Given the description of an element on the screen output the (x, y) to click on. 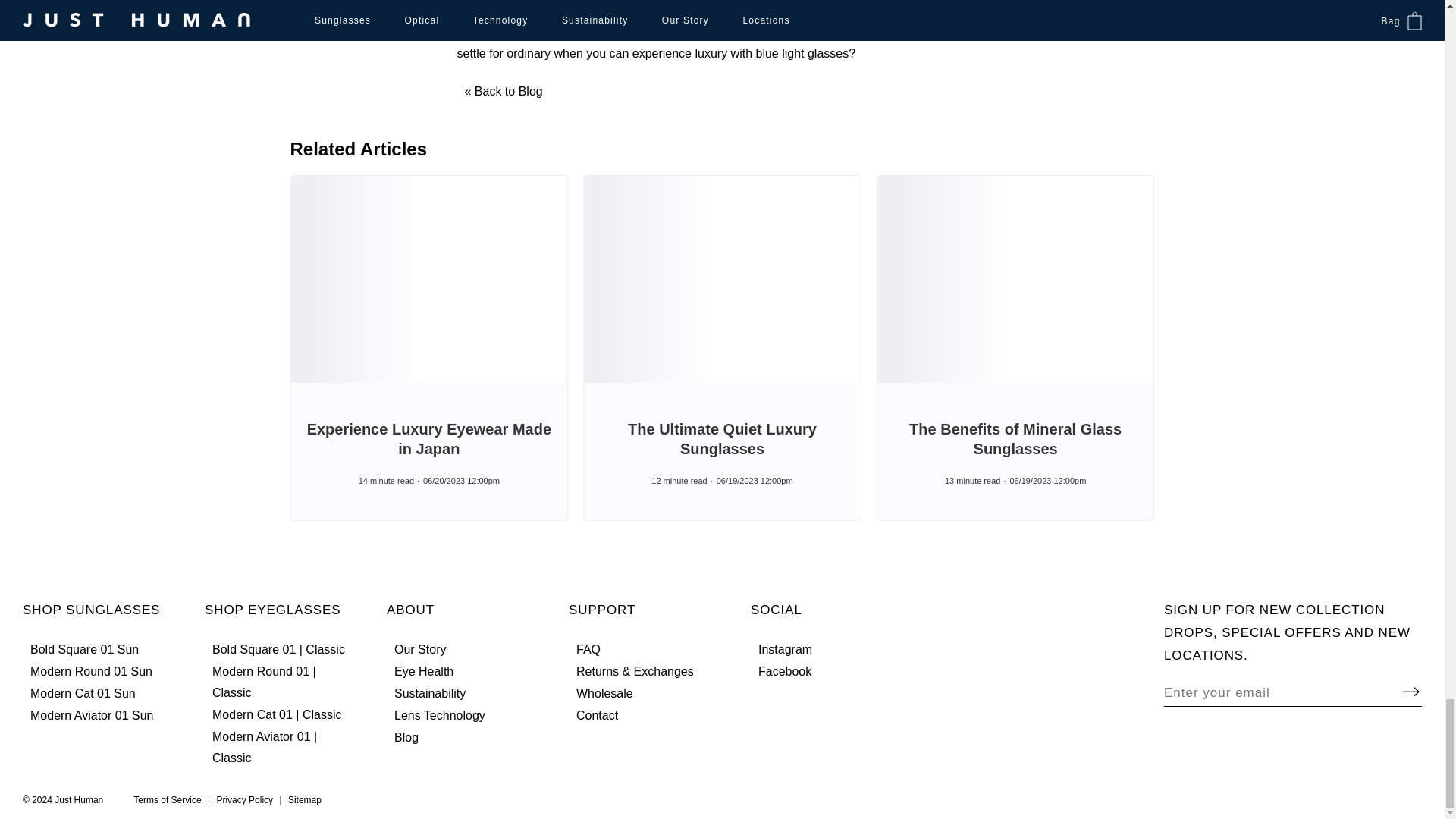
Bold Square 01 Sun (84, 649)
Experience Luxury Eyewear Made in Japan (429, 438)
Just Human on Instagram (785, 649)
Modern Round 01 Sun (91, 671)
The Benefits of Mineral Glass Sunglasses (1014, 438)
Modern Cat 01 Sun (82, 693)
Just Human on Facebook (784, 671)
Modern Aviator 01 Sun (91, 715)
The Ultimate Quiet Luxury Sunglasses (721, 438)
